Given the description of an element on the screen output the (x, y) to click on. 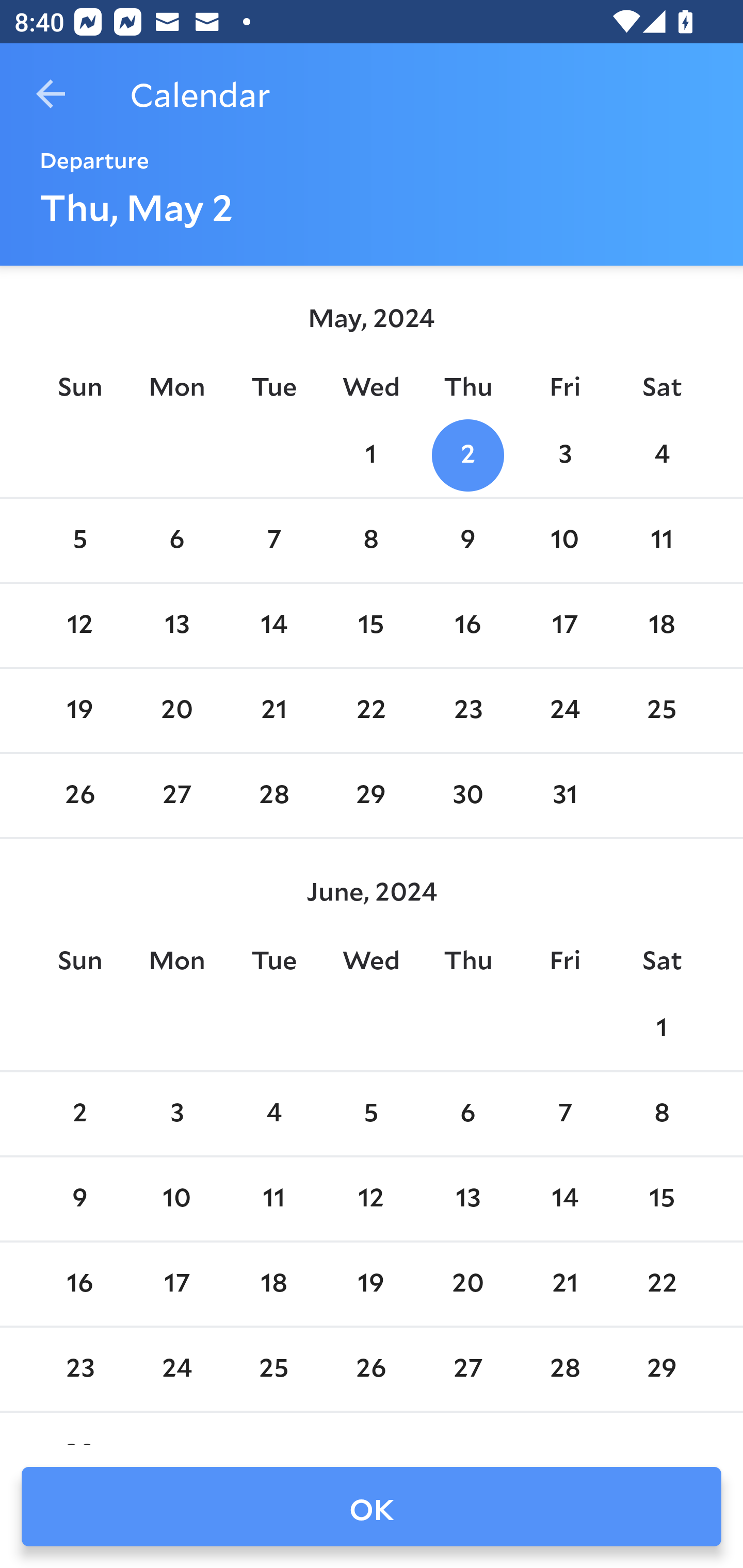
Navigate up (50, 93)
1 (371, 454)
2 (467, 454)
3 (565, 454)
4 (661, 454)
5 (79, 540)
6 (177, 540)
7 (273, 540)
8 (371, 540)
9 (467, 540)
10 (565, 540)
11 (661, 540)
12 (79, 625)
13 (177, 625)
14 (273, 625)
15 (371, 625)
16 (467, 625)
17 (565, 625)
18 (661, 625)
19 (79, 710)
20 (177, 710)
21 (273, 710)
22 (371, 710)
23 (467, 710)
24 (565, 710)
25 (661, 710)
26 (79, 796)
27 (177, 796)
28 (273, 796)
29 (371, 796)
30 (467, 796)
31 (565, 796)
1 (661, 1028)
2 (79, 1114)
3 (177, 1114)
4 (273, 1114)
5 (371, 1114)
6 (467, 1114)
7 (565, 1114)
8 (661, 1114)
9 (79, 1199)
10 (177, 1199)
11 (273, 1199)
12 (371, 1199)
13 (467, 1199)
14 (565, 1199)
15 (661, 1199)
16 (79, 1284)
17 (177, 1284)
18 (273, 1284)
19 (371, 1284)
20 (467, 1284)
21 (565, 1284)
22 (661, 1284)
23 (79, 1368)
24 (177, 1368)
25 (273, 1368)
26 (371, 1368)
27 (467, 1368)
28 (565, 1368)
29 (661, 1368)
OK (371, 1506)
